Given the description of an element on the screen output the (x, y) to click on. 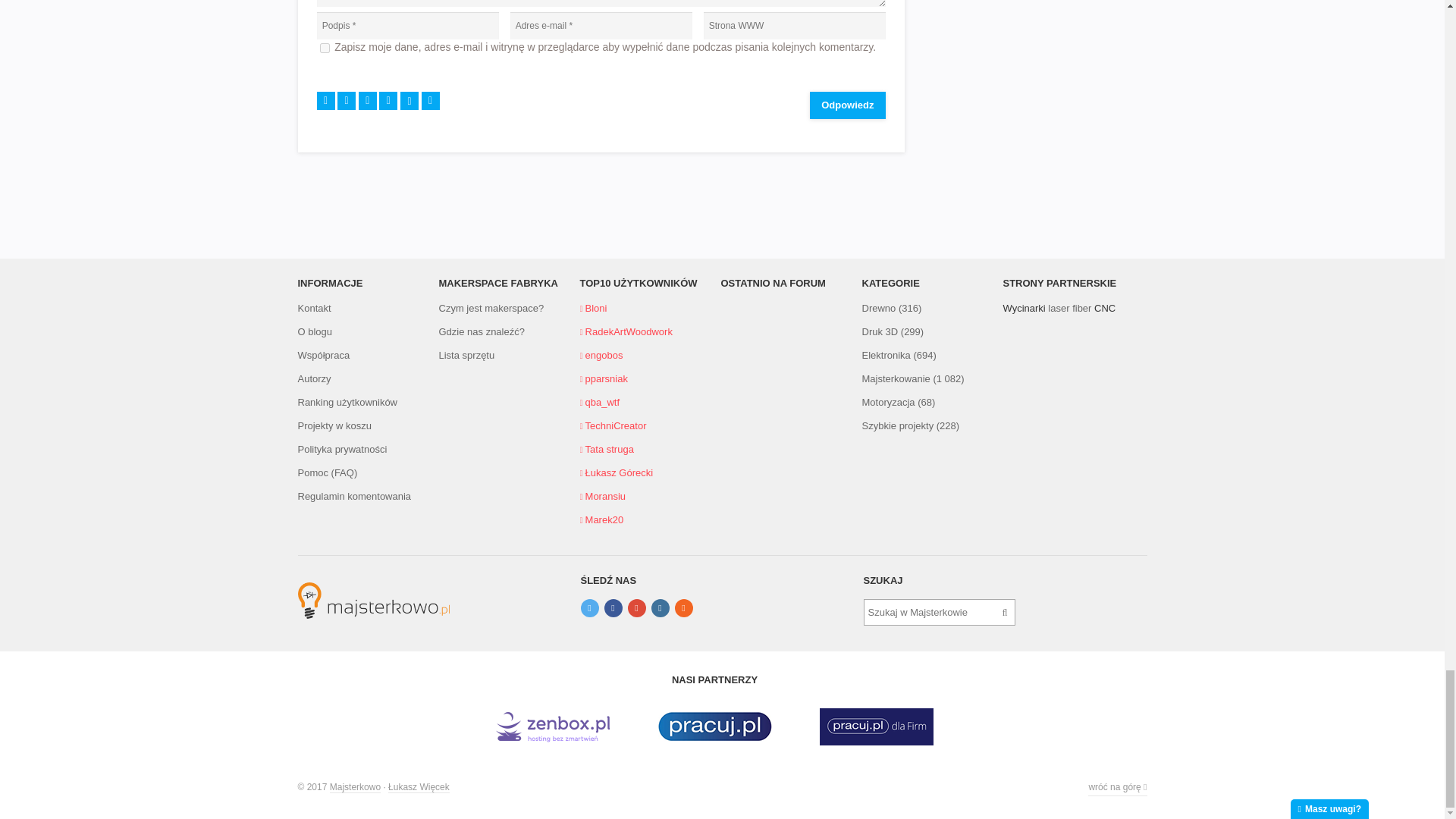
Odpowiedz (847, 104)
yes (325, 48)
